Given the description of an element on the screen output the (x, y) to click on. 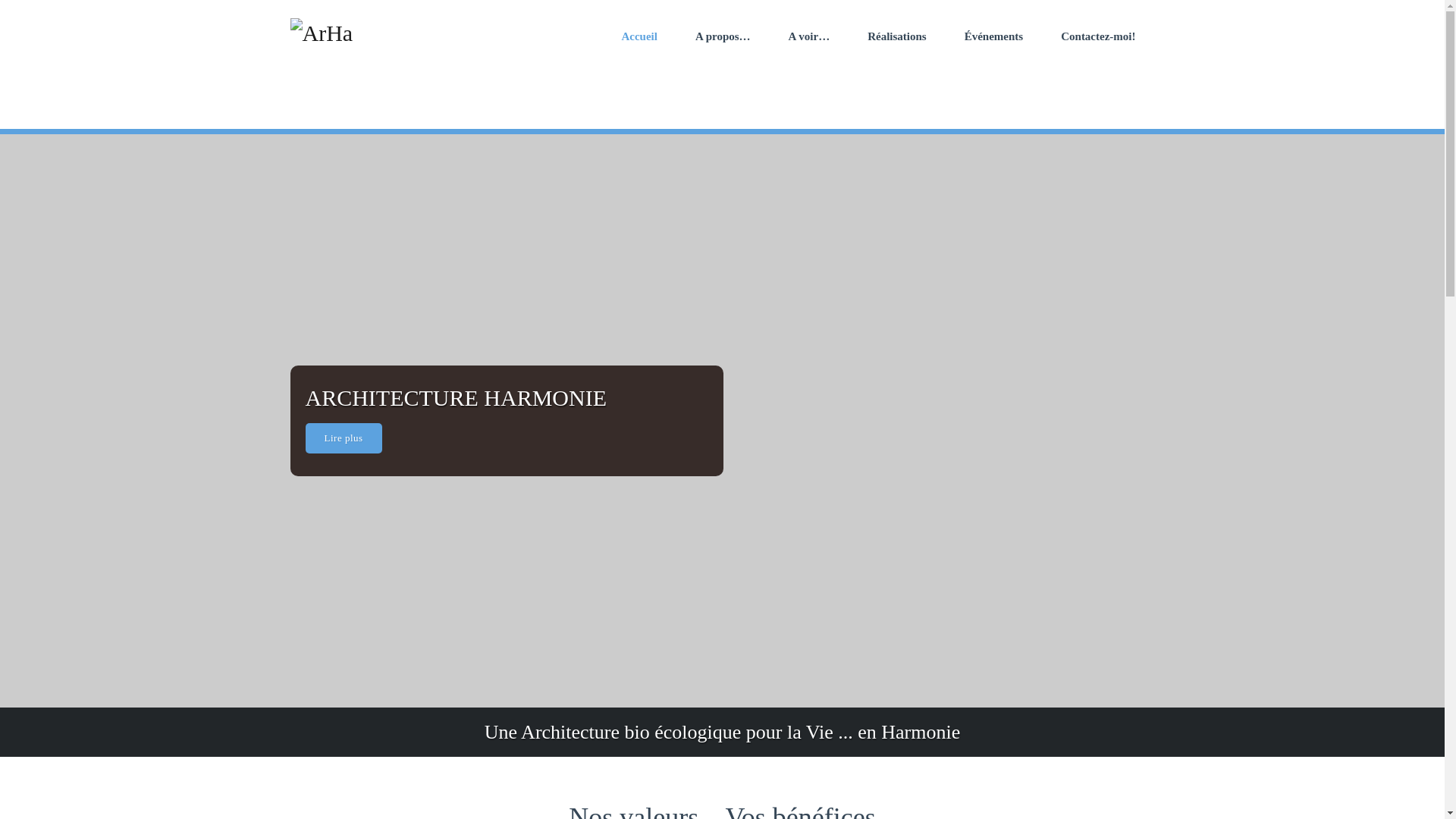
Contactez-moi! Element type: text (1097, 36)
Lire plus Element type: text (342, 438)
Accueil Element type: text (638, 36)
Skip to content Element type: text (0, 0)
